Given the description of an element on the screen output the (x, y) to click on. 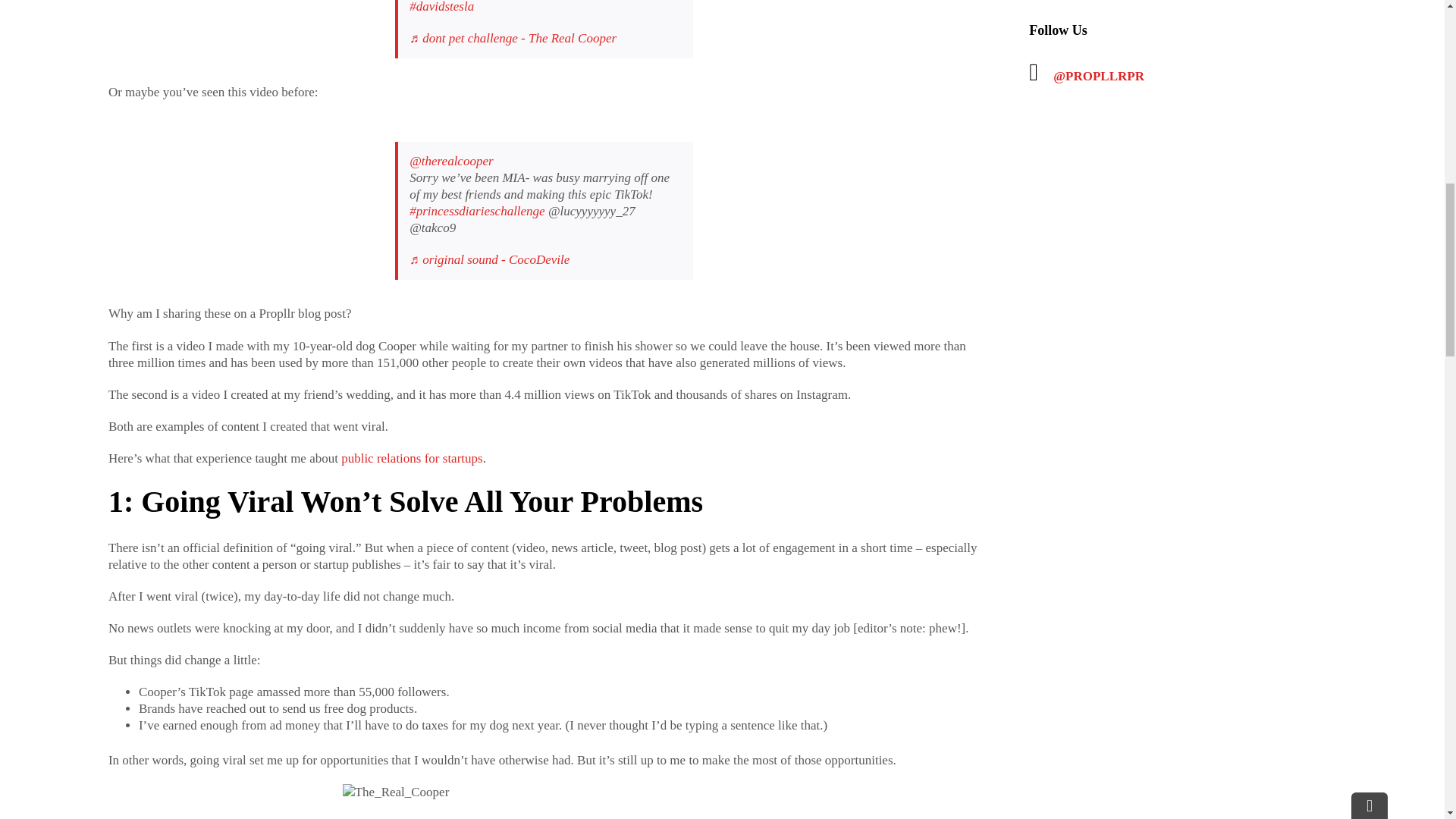
davidstesla (441, 6)
public relations for startups (411, 458)
princessdiarieschallenge (476, 210)
